Given the description of an element on the screen output the (x, y) to click on. 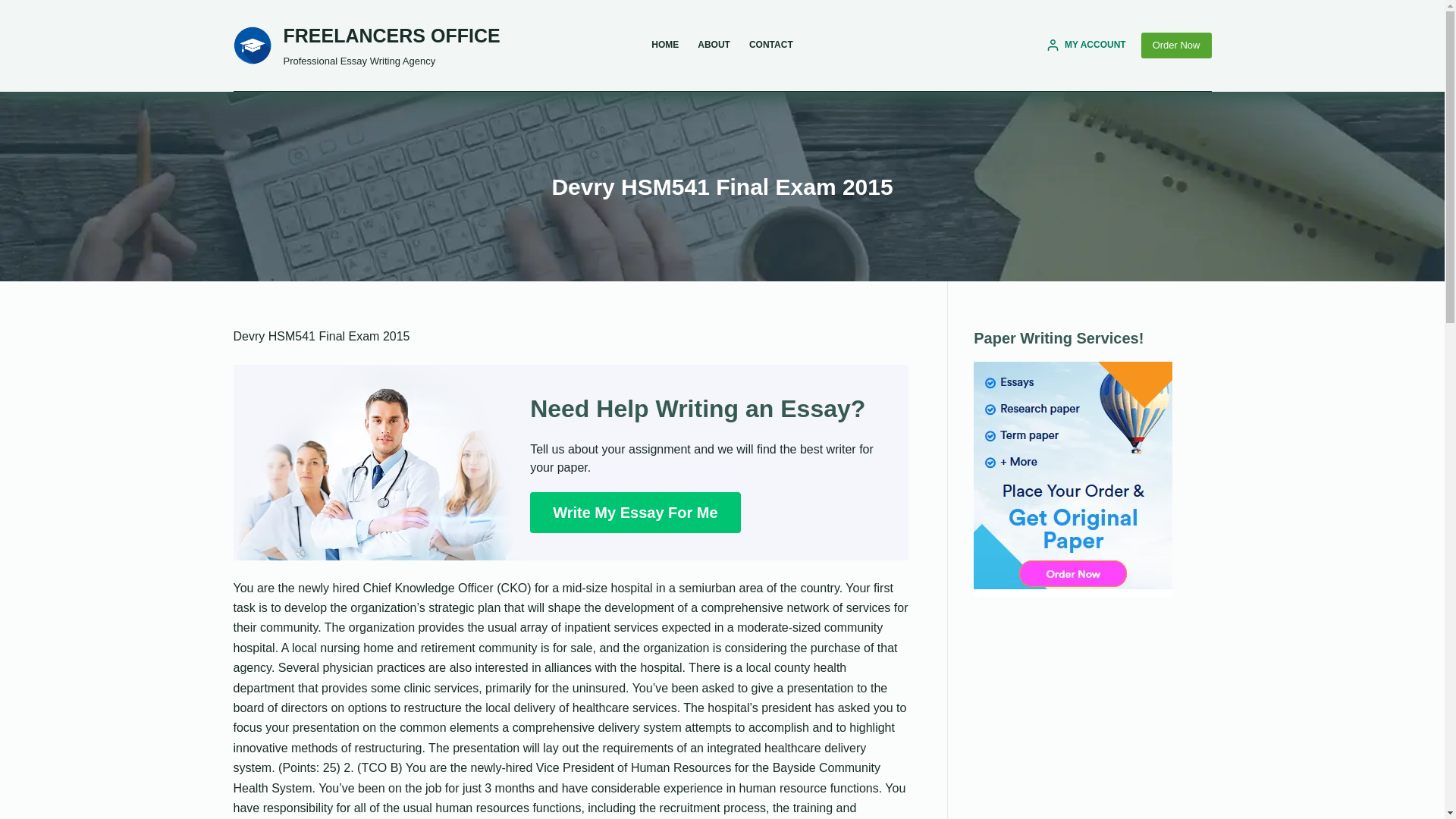
MY ACCOUNT (1085, 45)
Write My Essay For Me (634, 512)
Devry HSM541 Final Exam 2015 (722, 186)
FREELANCERS OFFICE (391, 35)
Order Now (1176, 45)
Skip to content (15, 7)
